Given the description of an element on the screen output the (x, y) to click on. 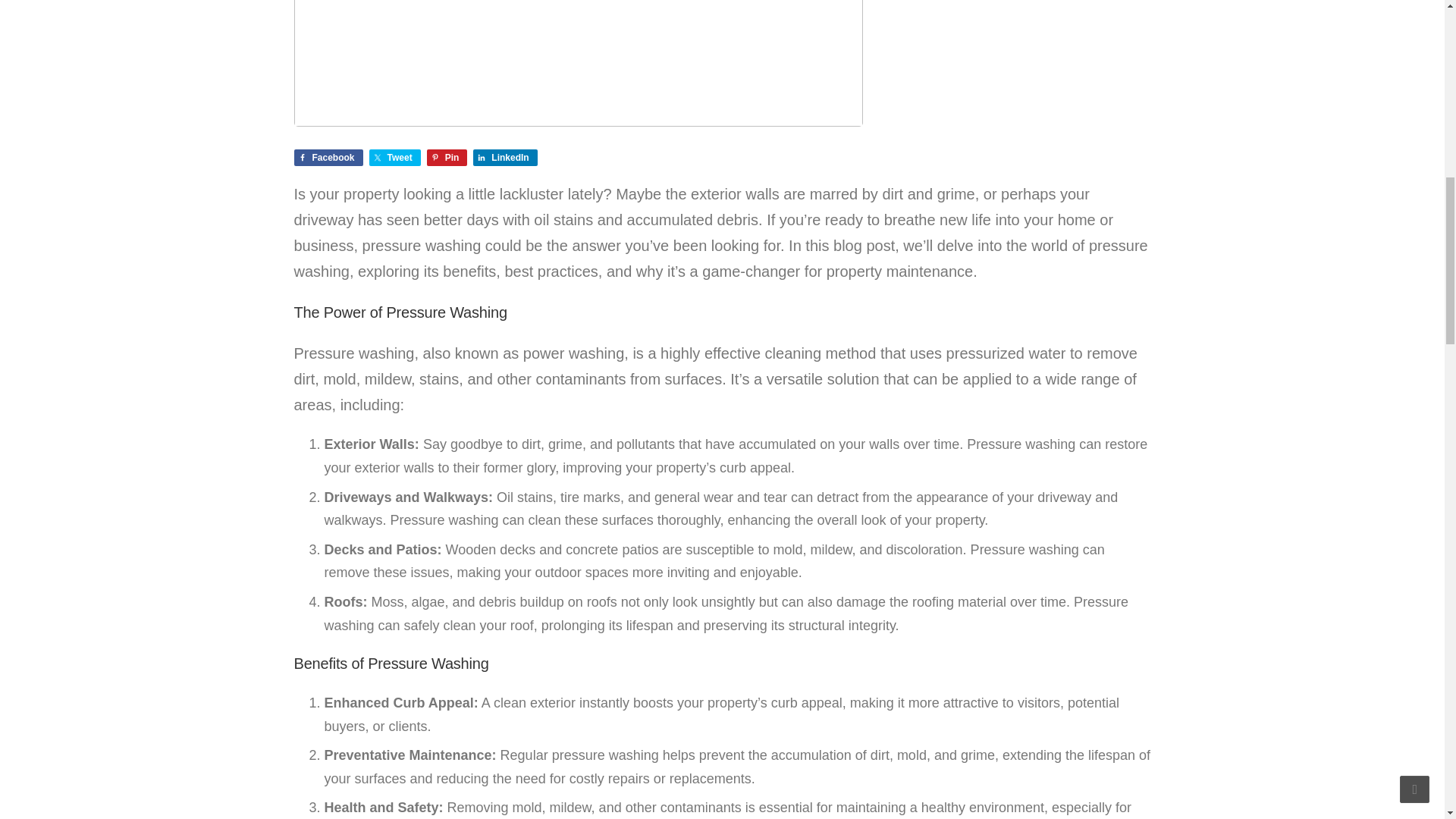
Facebook (328, 157)
Share on Facebook (328, 157)
Share on Twitter (394, 157)
Share on Pinterest (446, 157)
Tweet (394, 157)
Pin (446, 157)
Share on LinkedIn (505, 157)
